Given the description of an element on the screen output the (x, y) to click on. 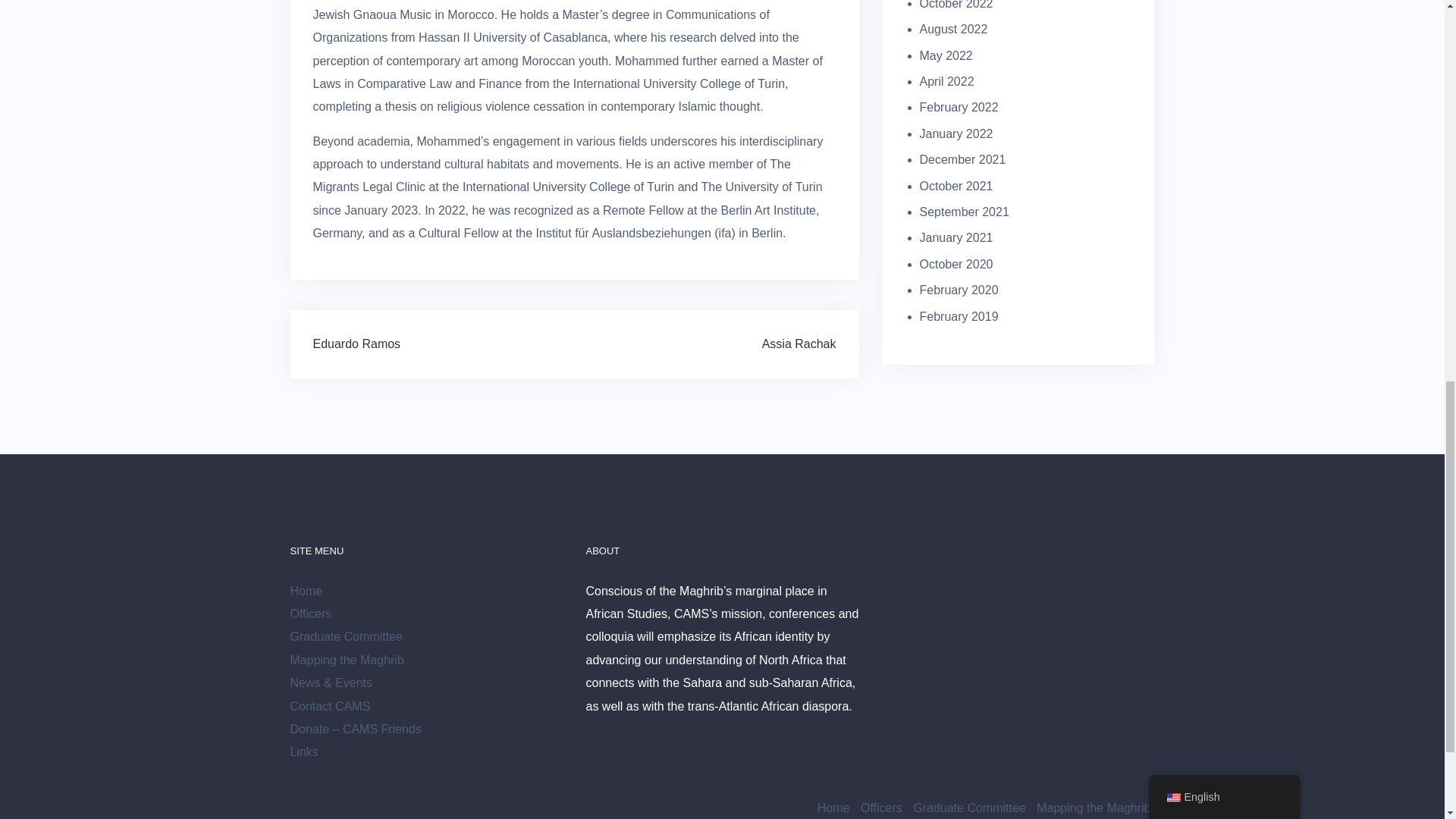
May 2022 (945, 55)
October 2021 (955, 185)
January 2022 (955, 133)
October 2022 (955, 4)
December 2021 (962, 159)
February 2022 (957, 106)
Assia Rachak (798, 343)
August 2022 (952, 29)
Eduardo Ramos (356, 343)
April 2022 (946, 81)
